Given the description of an element on the screen output the (x, y) to click on. 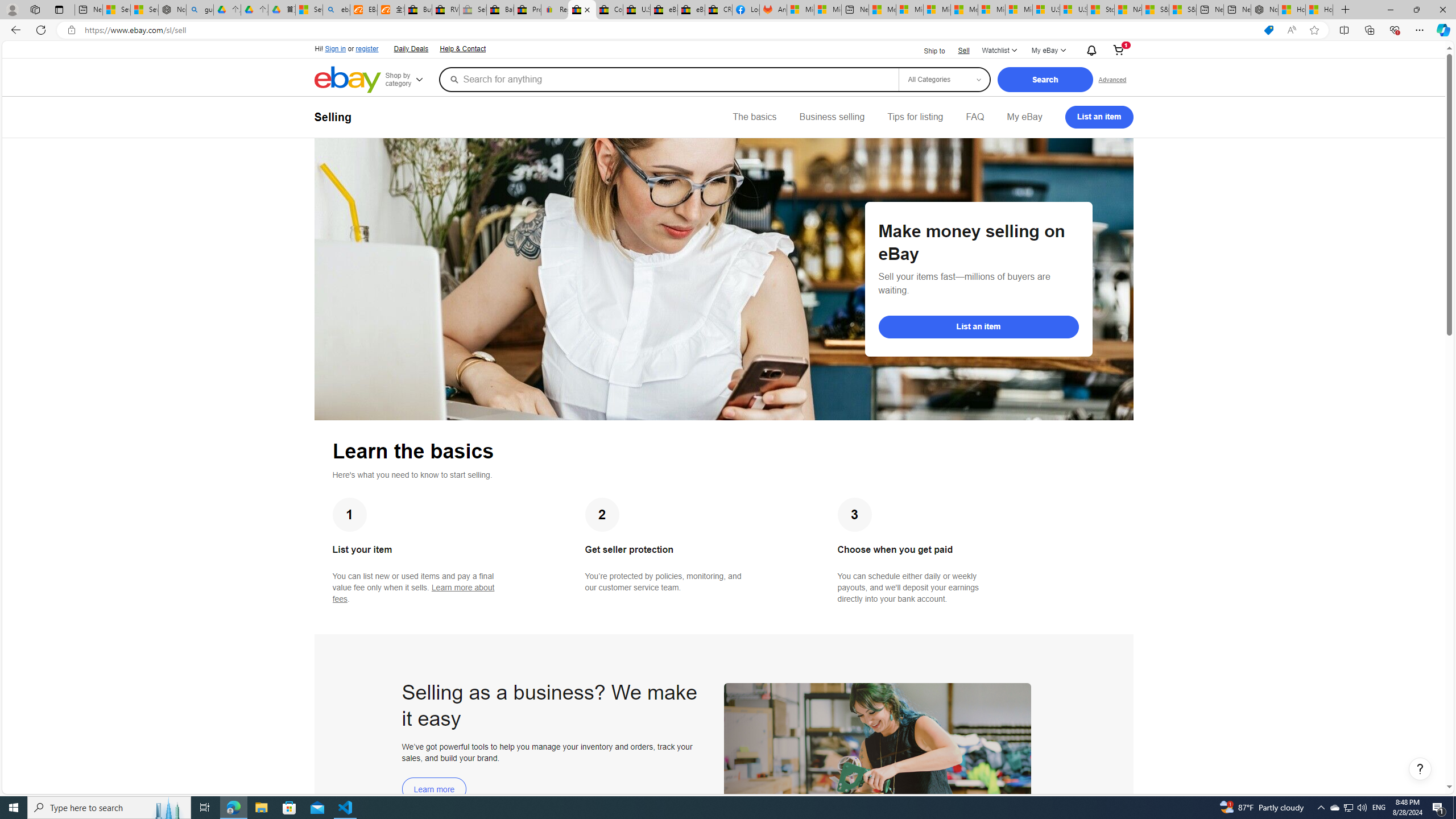
Help & Contact (461, 48)
How to Use a Monitor With Your Closed Laptop (1319, 9)
List an item (1099, 116)
WatchlistExpand Watch List (998, 50)
S&P 500, Nasdaq end lower, weighed by Nvidia dip | Watch (1182, 9)
My eBayExpand My eBay (1048, 50)
Search for anything (667, 78)
FAQ (974, 116)
Sign in (335, 49)
